Given the description of an element on the screen output the (x, y) to click on. 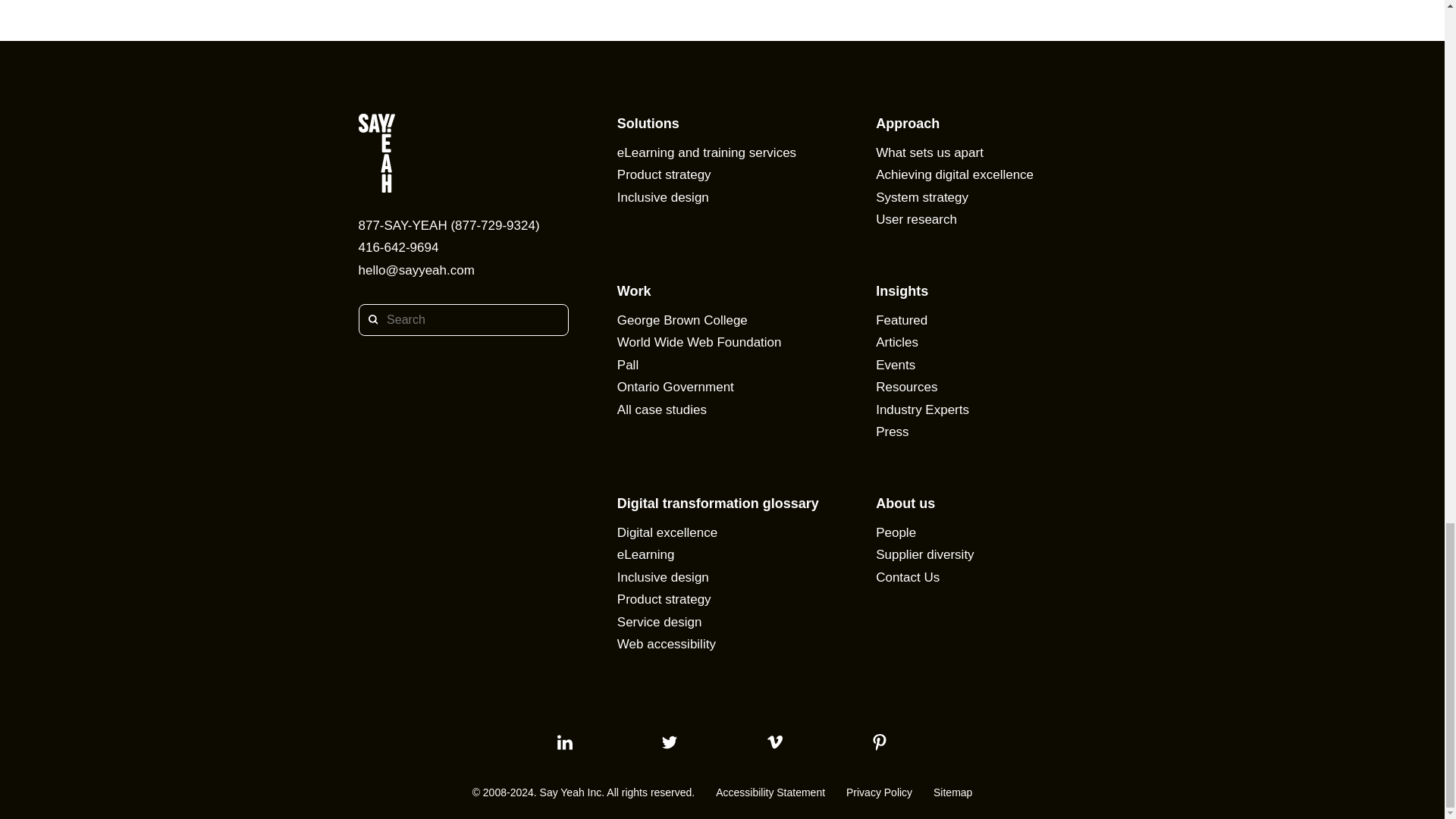
Web accessibility (666, 644)
Ontario Government (675, 386)
Service design (659, 622)
Insights (902, 290)
Digital excellence (667, 532)
Achieving digital excellence (954, 174)
System strategy (922, 197)
What sets us apart (930, 151)
Digital transformation glossary (717, 502)
Work (633, 290)
Pall (628, 364)
Say Yeah! Home (462, 155)
Resources (906, 386)
Events (895, 364)
eLearning (646, 554)
